Given the description of an element on the screen output the (x, y) to click on. 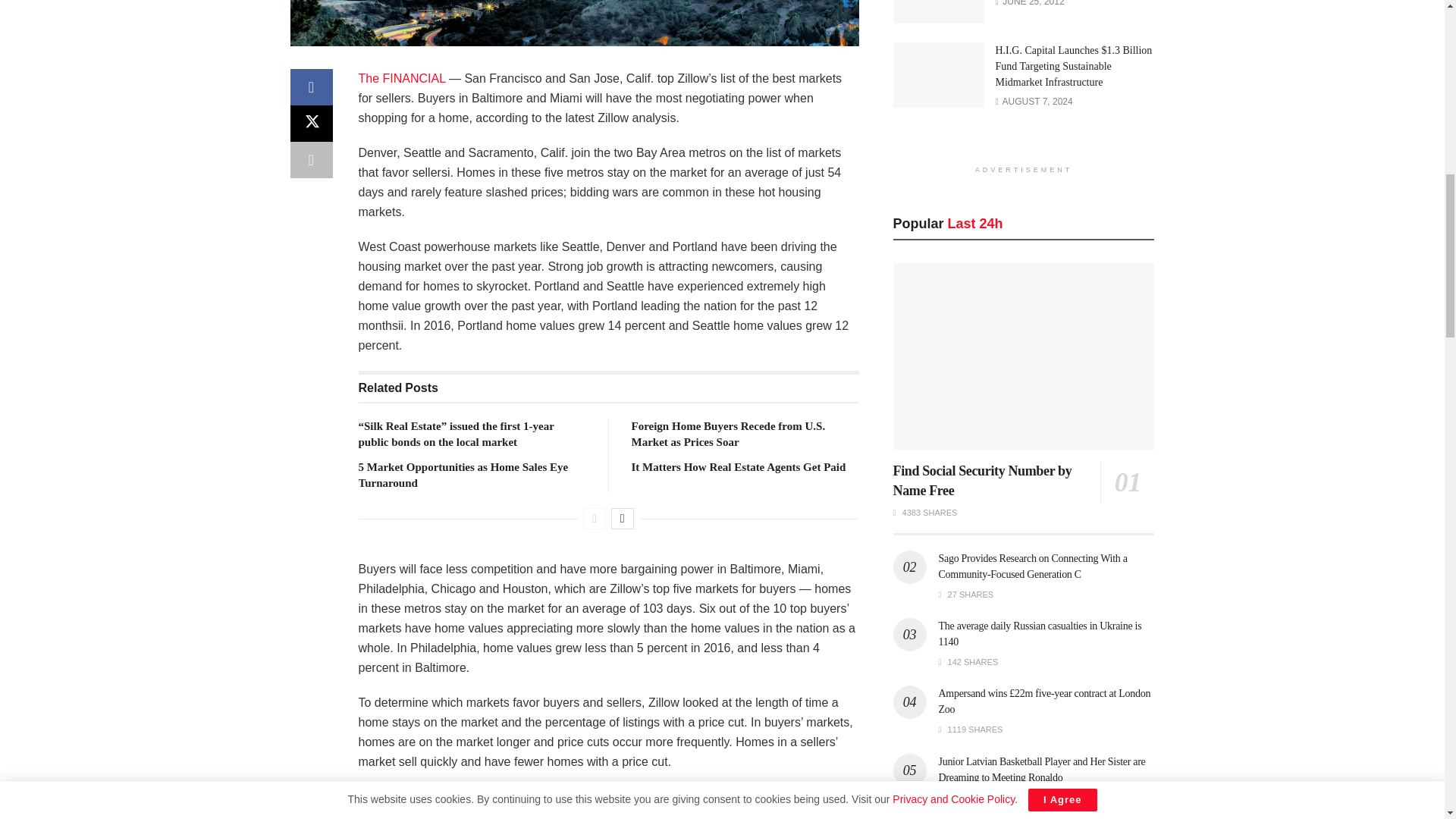
Previous (594, 518)
Next (622, 518)
The FINANCIAL (401, 78)
